Given the description of an element on the screen output the (x, y) to click on. 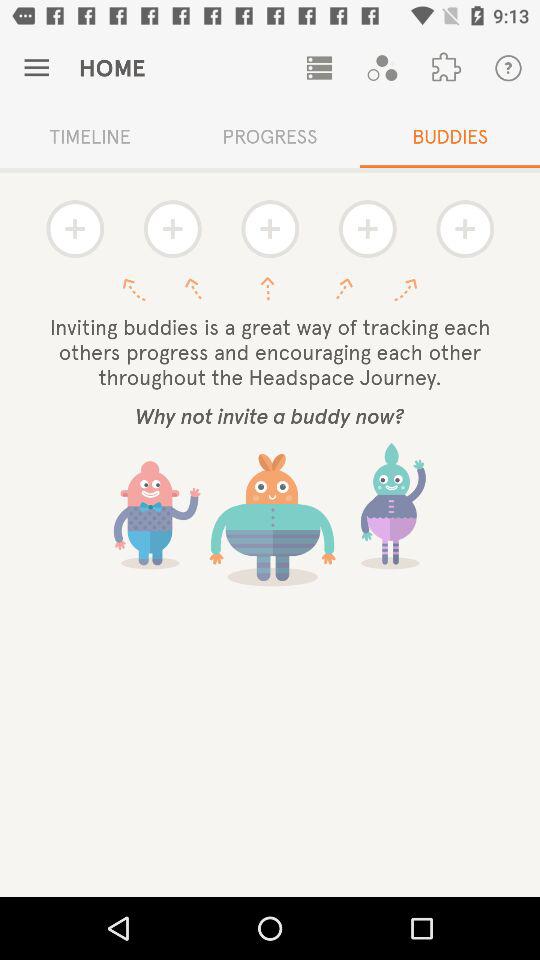
launch the icon above the buddies item (508, 67)
